Given the description of an element on the screen output the (x, y) to click on. 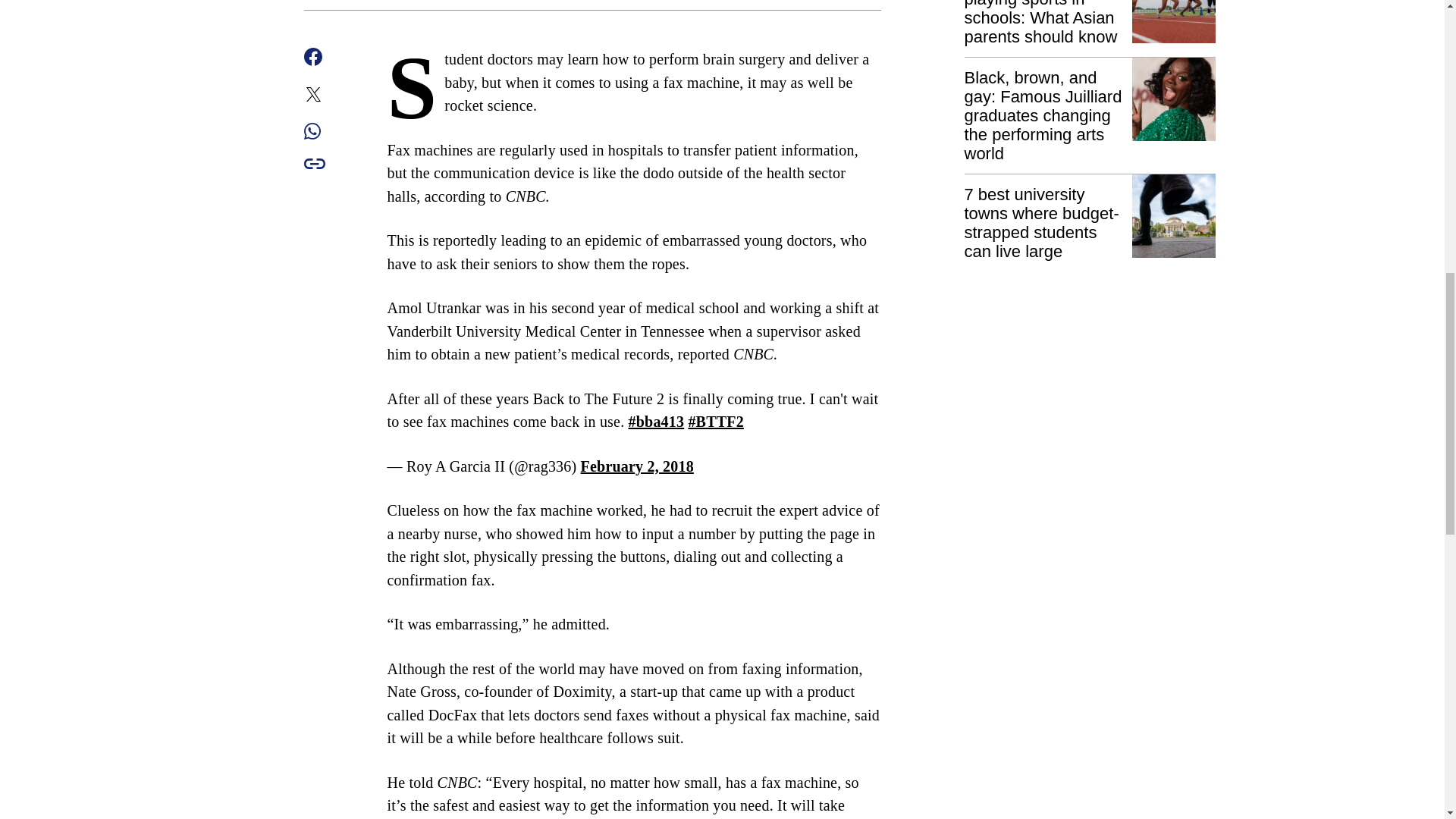
February 2, 2018 (637, 466)
